Given the description of an element on the screen output the (x, y) to click on. 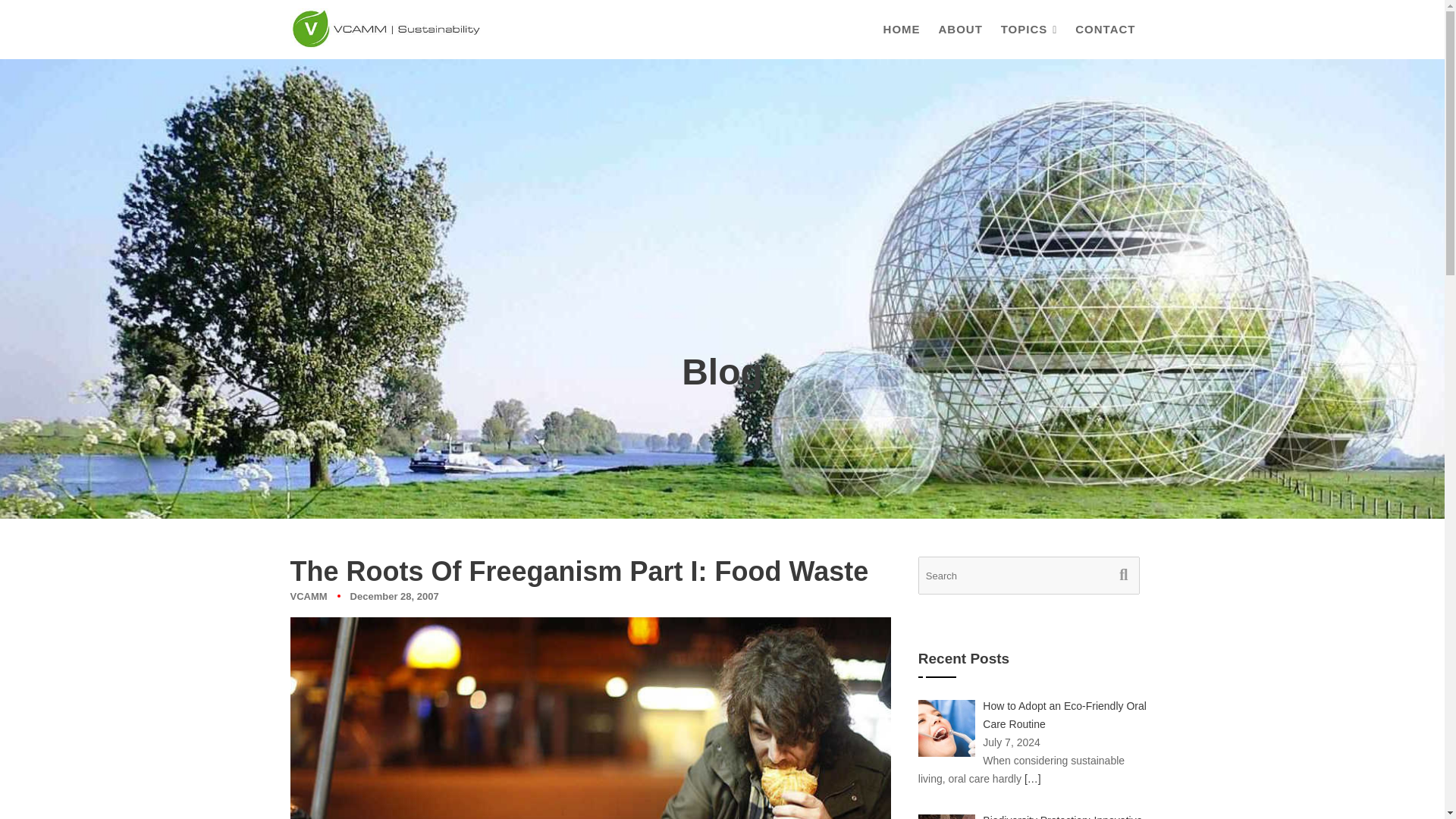
TOPICS (1028, 29)
HOME (902, 28)
ABOUT (960, 28)
How to Adopt an Eco-Friendly Oral Care Routine (1064, 715)
VCAMM (307, 595)
CONTACT (1104, 28)
December 28, 2007 (394, 595)
